Given the description of an element on the screen output the (x, y) to click on. 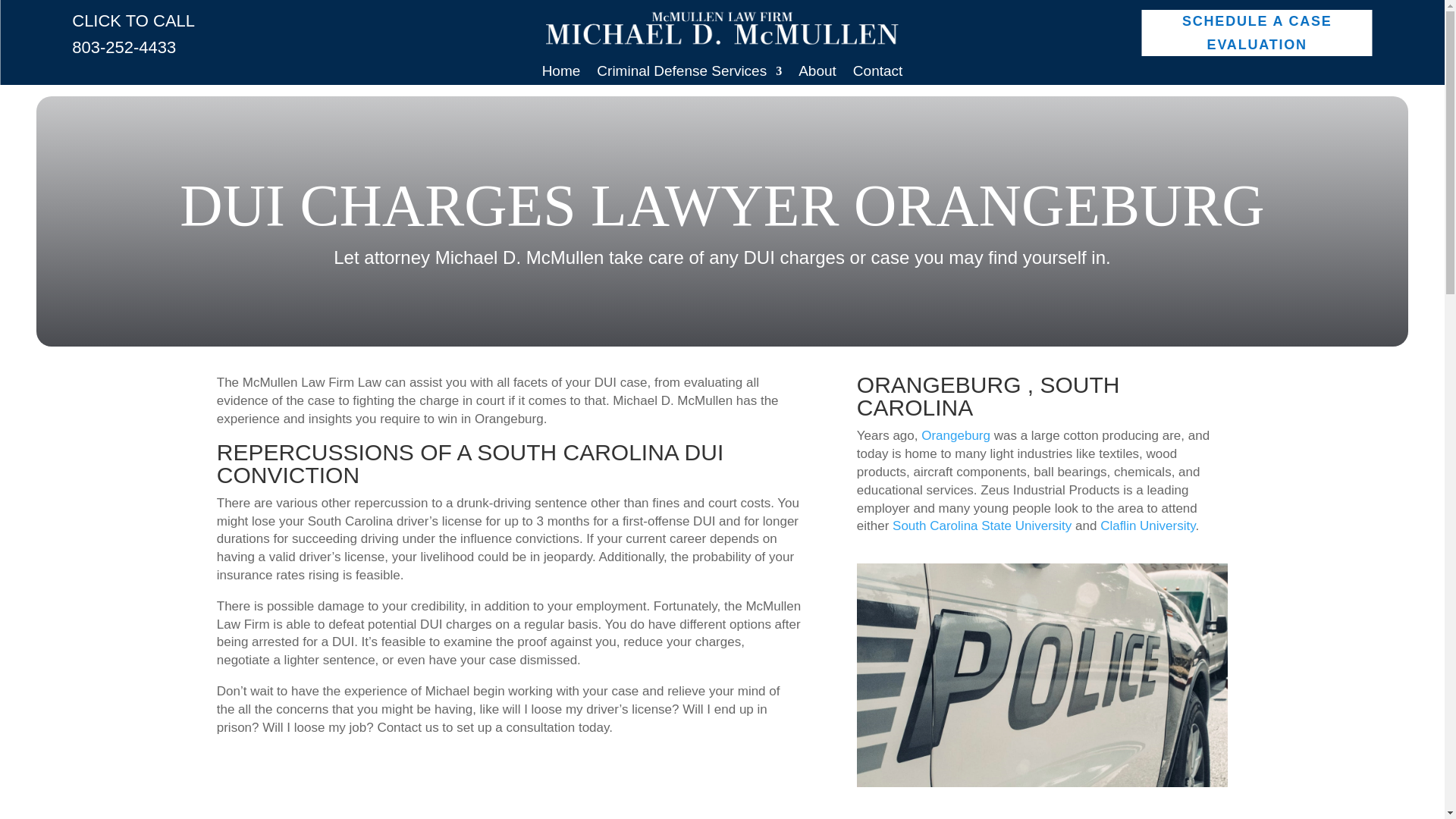
Website Header MDM WHITE (721, 27)
Home (560, 74)
SCHEDULE A CASE EVALUATION (1257, 32)
Criminal Defense Services (688, 74)
Contact (877, 74)
About (816, 74)
DUI Crimes Attorney Orangeburg (1042, 675)
